Given the description of an element on the screen output the (x, y) to click on. 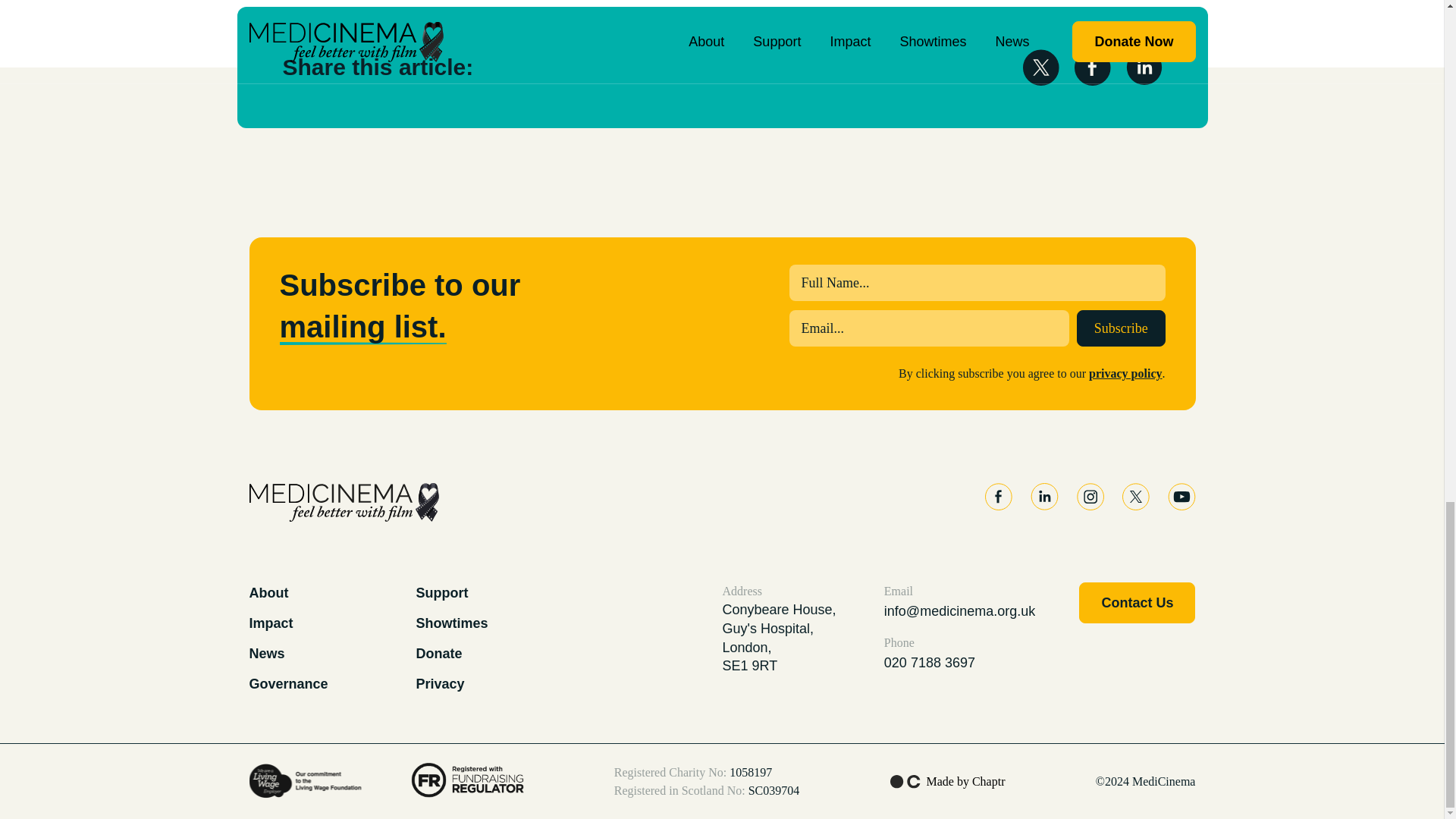
About (268, 592)
Facebook (997, 496)
Linkedin (1043, 496)
020 7188 3697 (959, 662)
Twitter (1136, 496)
Showtimes (450, 622)
Donate (437, 653)
Governance (287, 683)
Impact (270, 622)
Support (440, 592)
YouTube (1181, 496)
Privacy (439, 683)
Subscribe (1121, 328)
privacy policy (1125, 373)
Instagram (1090, 496)
